Given the description of an element on the screen output the (x, y) to click on. 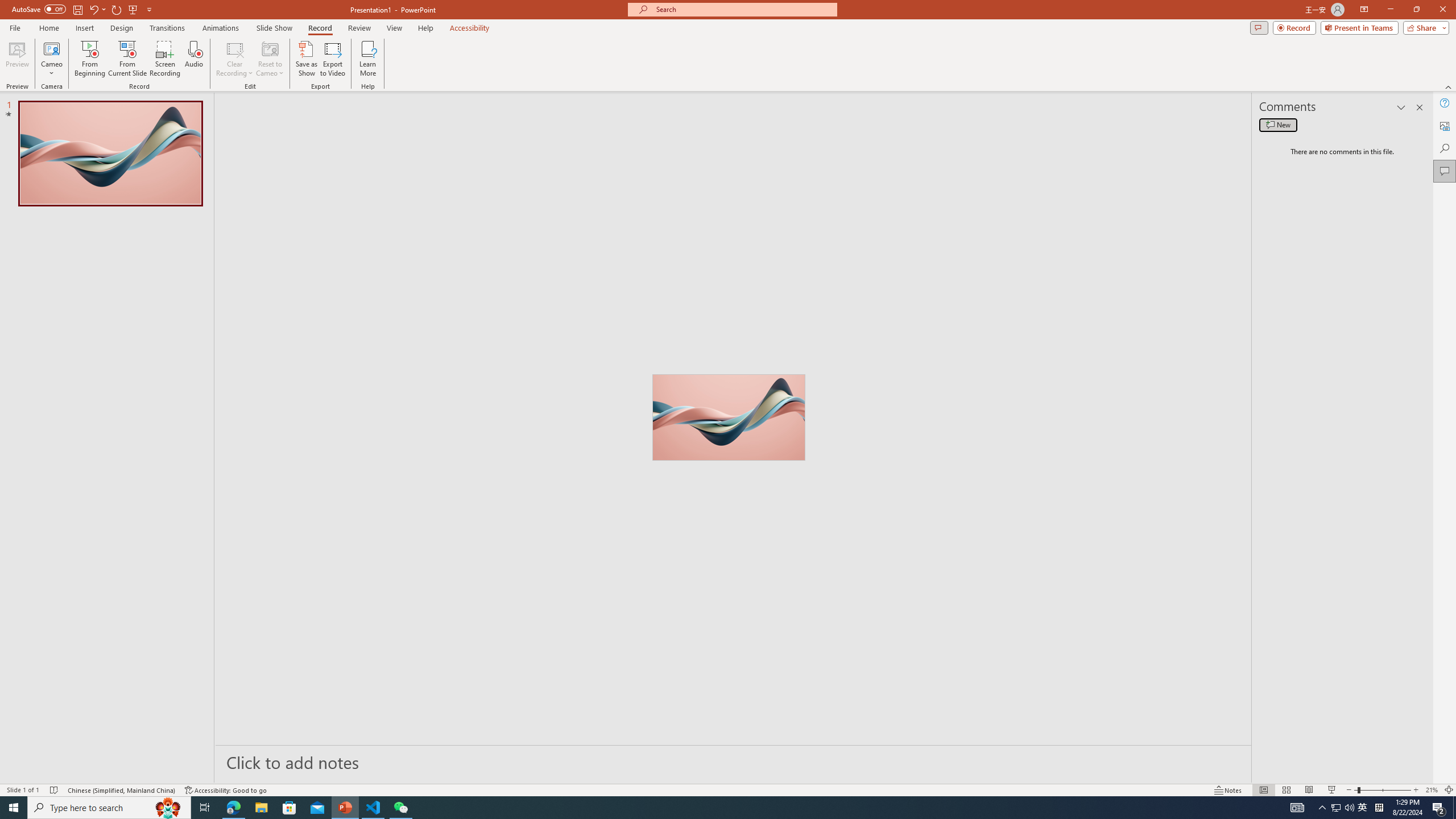
Alt Text (1444, 125)
Slide Notes (733, 761)
Learn More (368, 58)
